Given the description of an element on the screen output the (x, y) to click on. 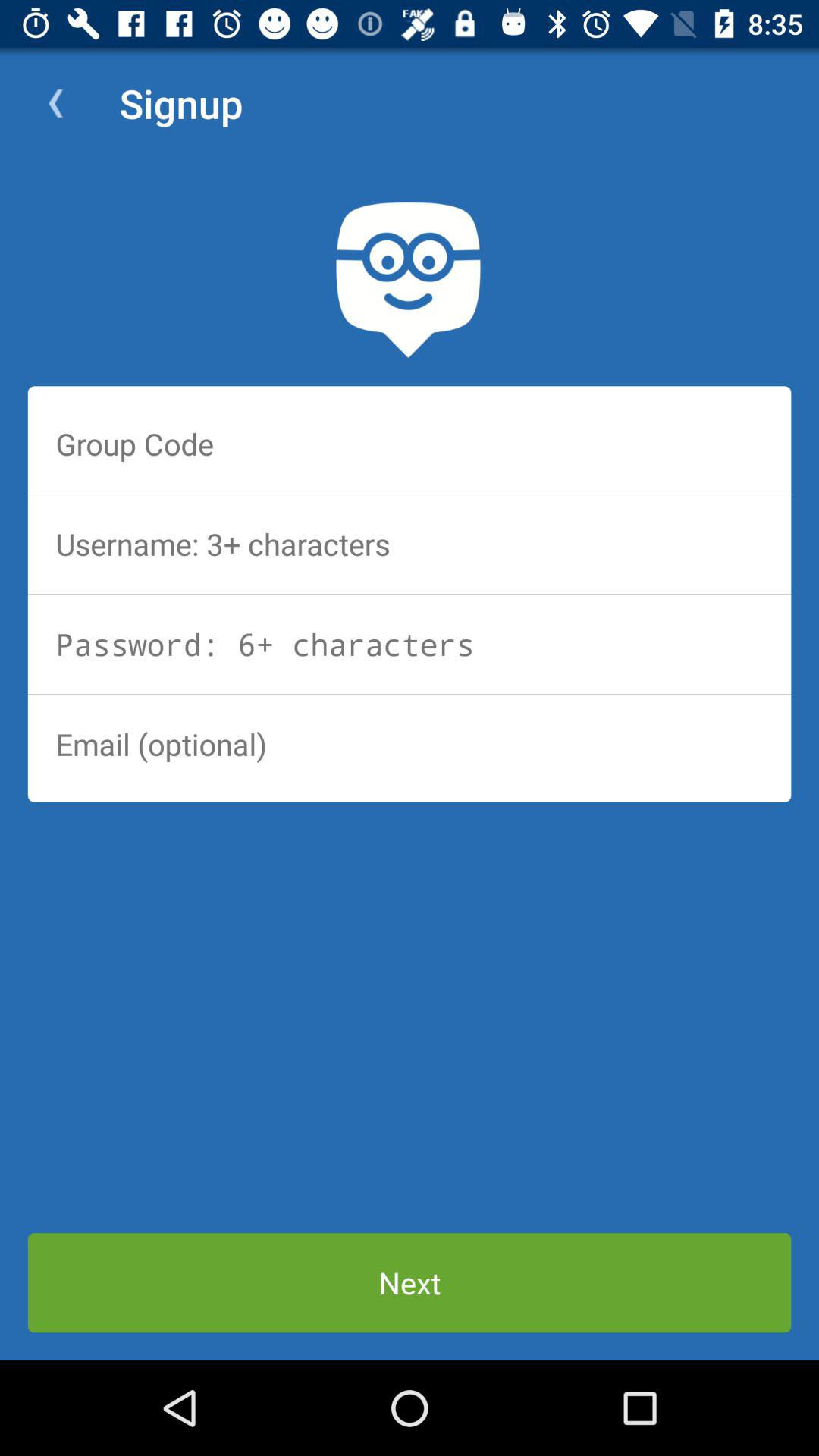
press the icon to the left of signup app (55, 103)
